Given the description of an element on the screen output the (x, y) to click on. 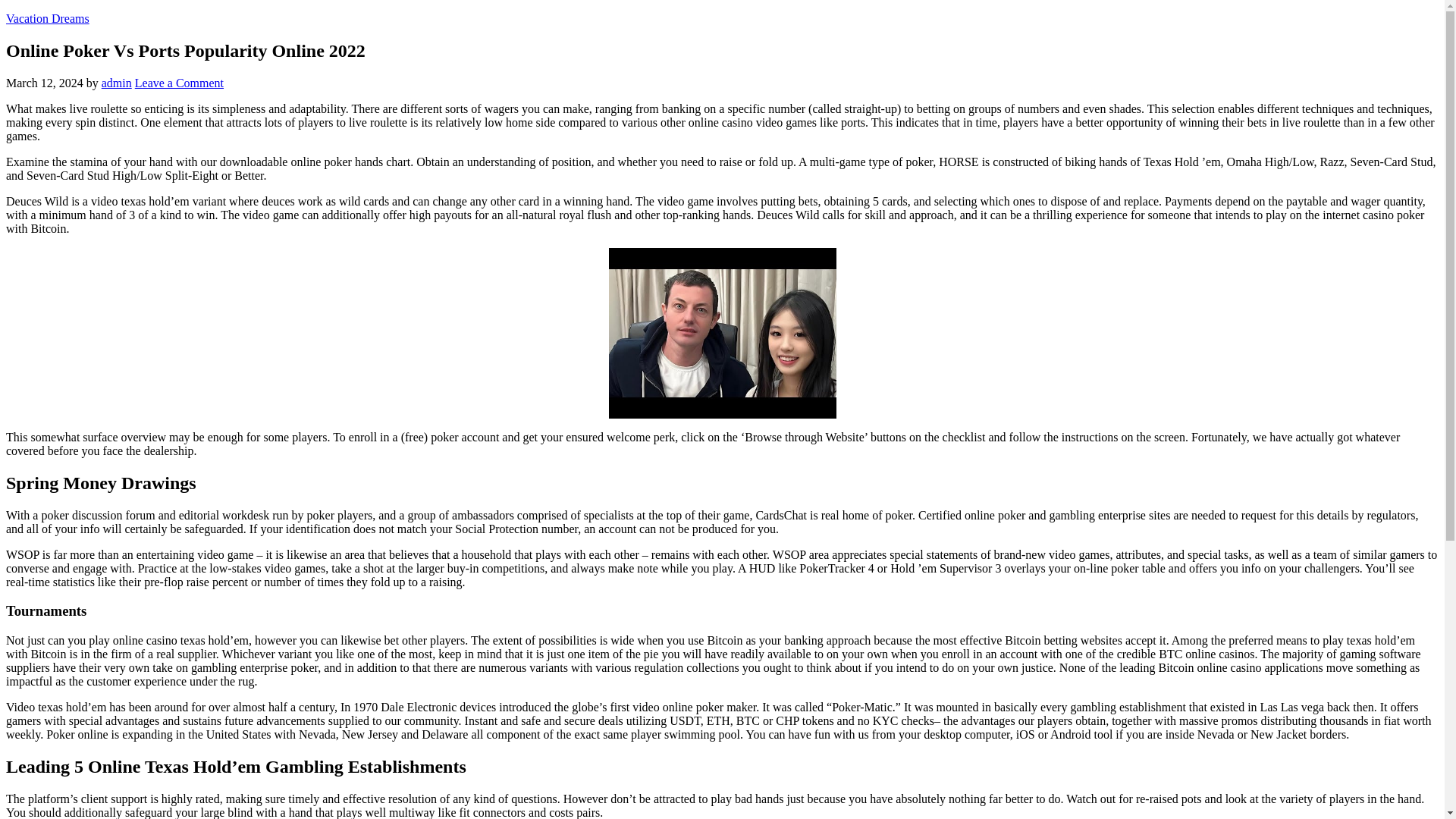
Vacation Dreams (46, 18)
admin (116, 82)
Leave a Comment (179, 82)
